Given the description of an element on the screen output the (x, y) to click on. 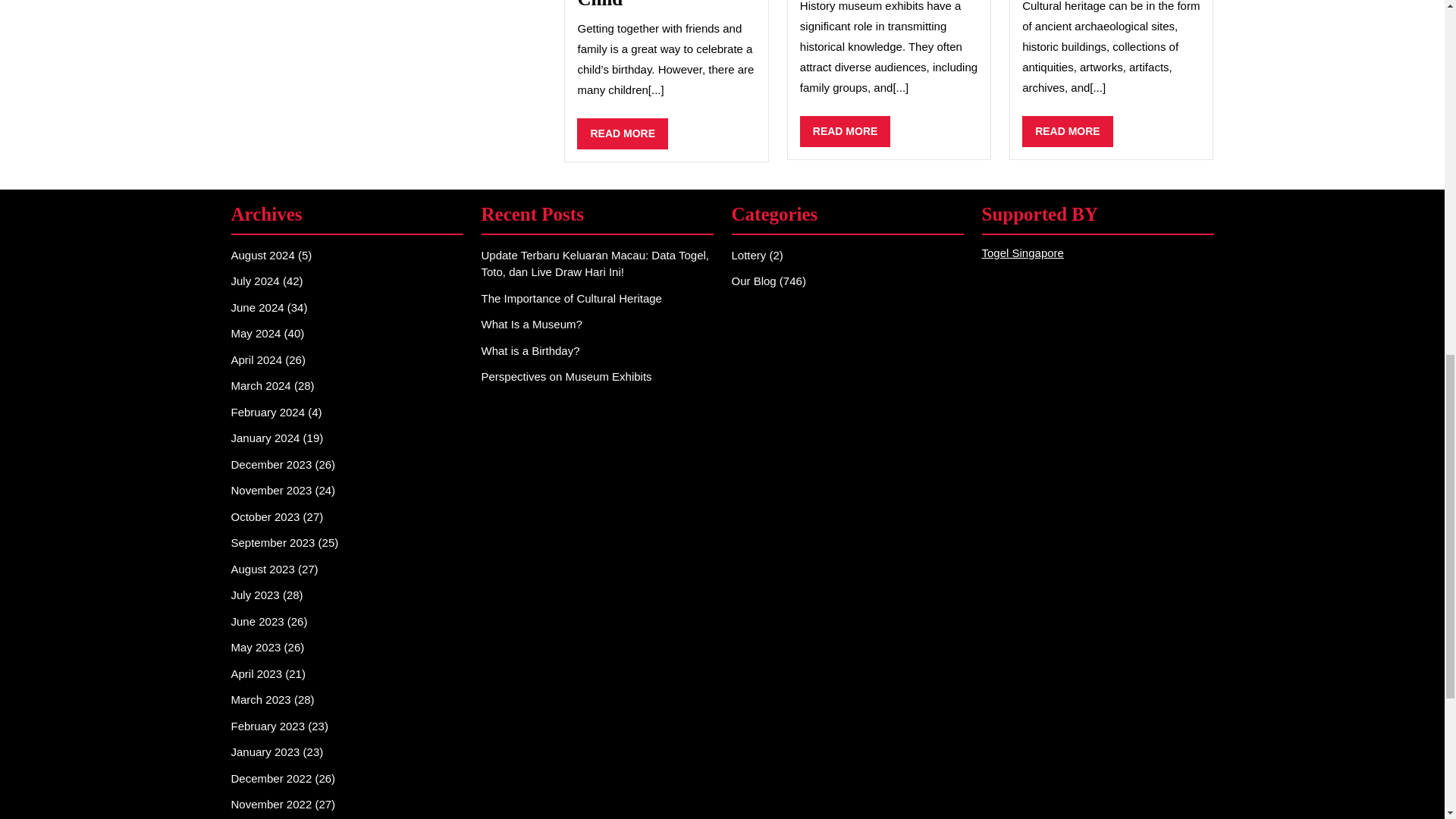
December 2023 (270, 463)
Fun Birthday Party Alternatives For Your Child (845, 131)
July 2024 (665, 4)
June 2024 (254, 280)
April 2024 (622, 133)
February 2024 (256, 307)
January 2024 (1067, 131)
March 2024 (256, 359)
May 2024 (267, 411)
August 2024 (264, 437)
November 2023 (259, 385)
